Given the description of an element on the screen output the (x, y) to click on. 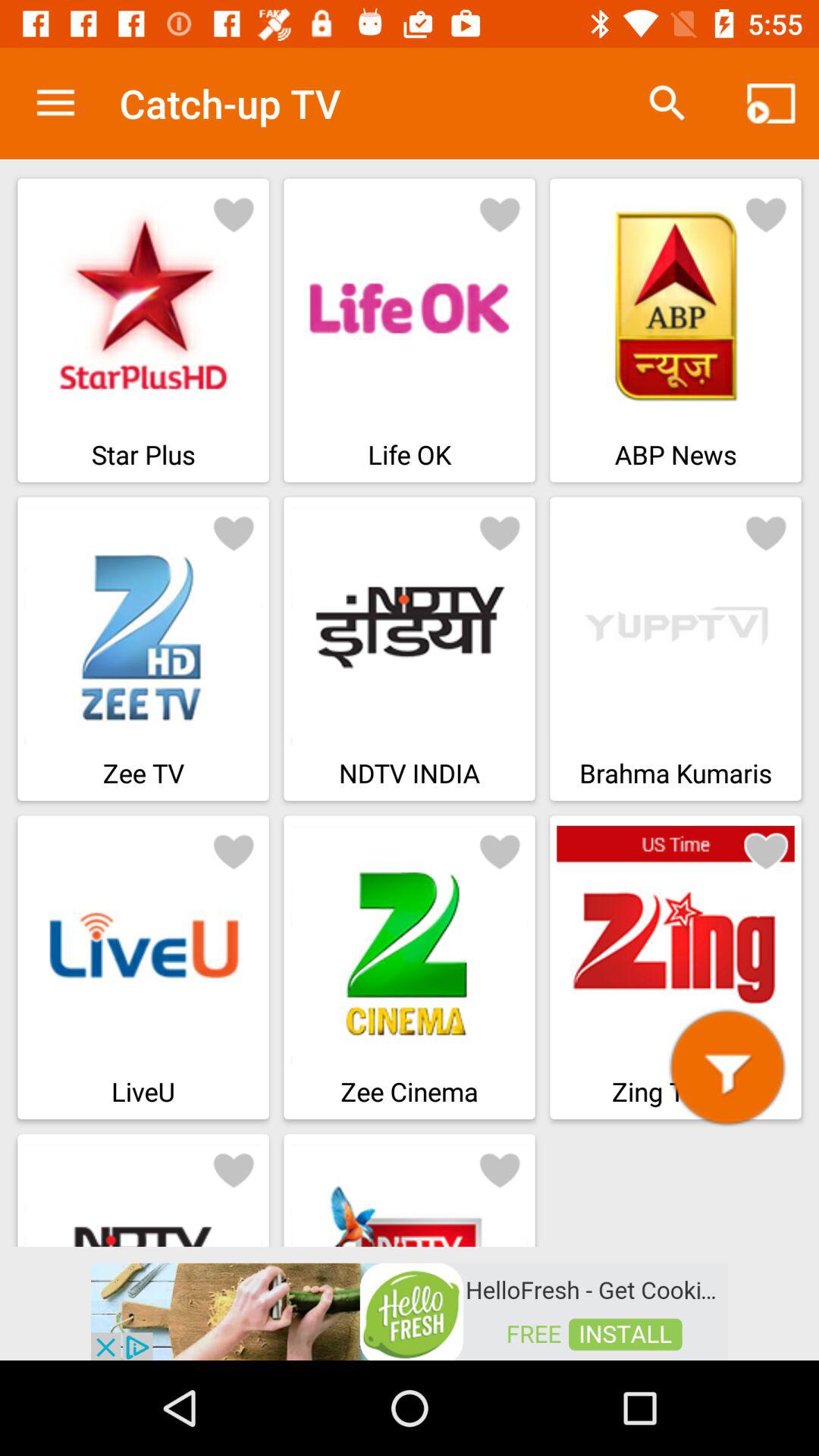
like zeetv channel (233, 532)
